Given the description of an element on the screen output the (x, y) to click on. 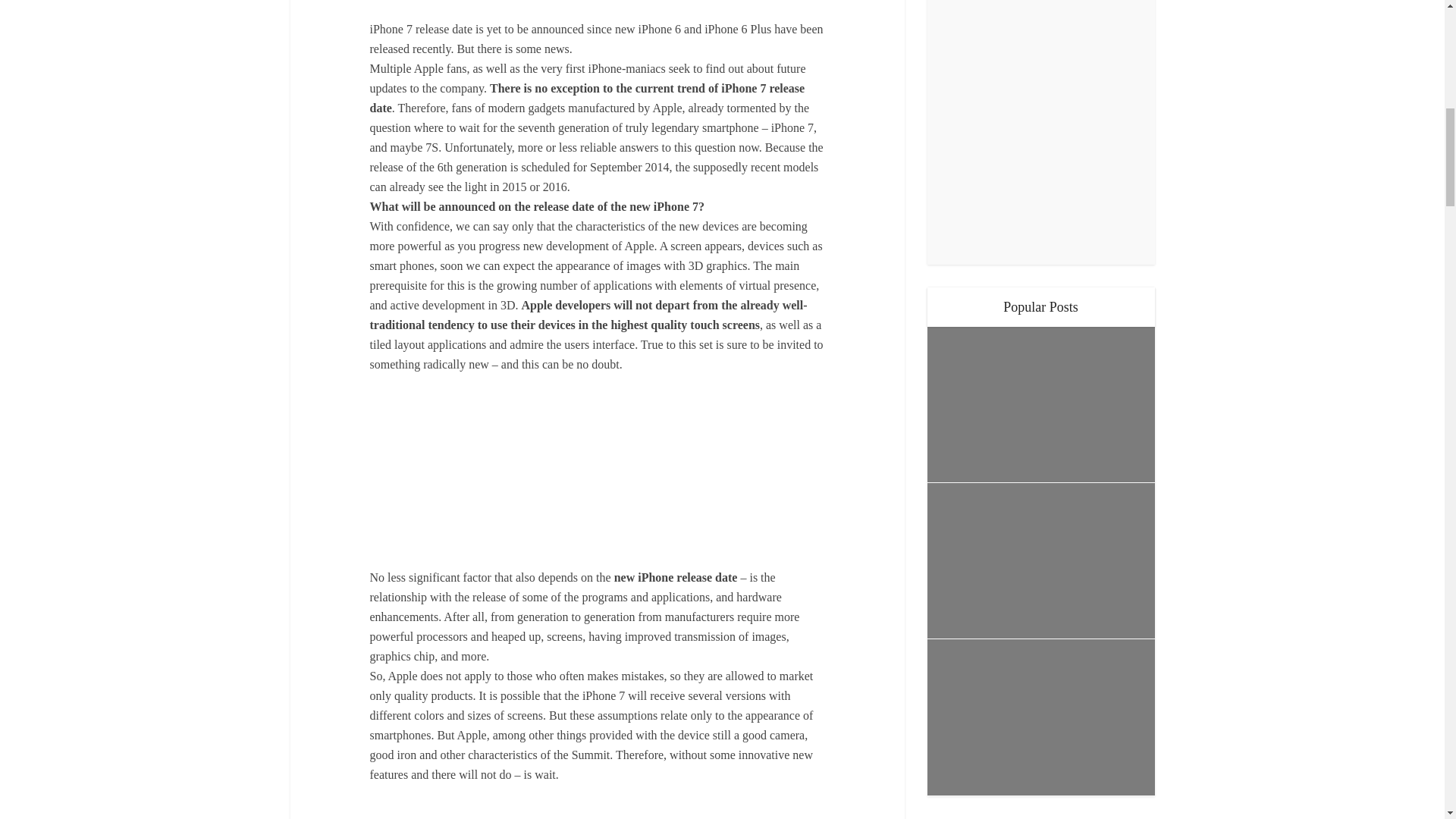
iPhone 7 release date is rumored (597, 471)
